Given the description of an element on the screen output the (x, y) to click on. 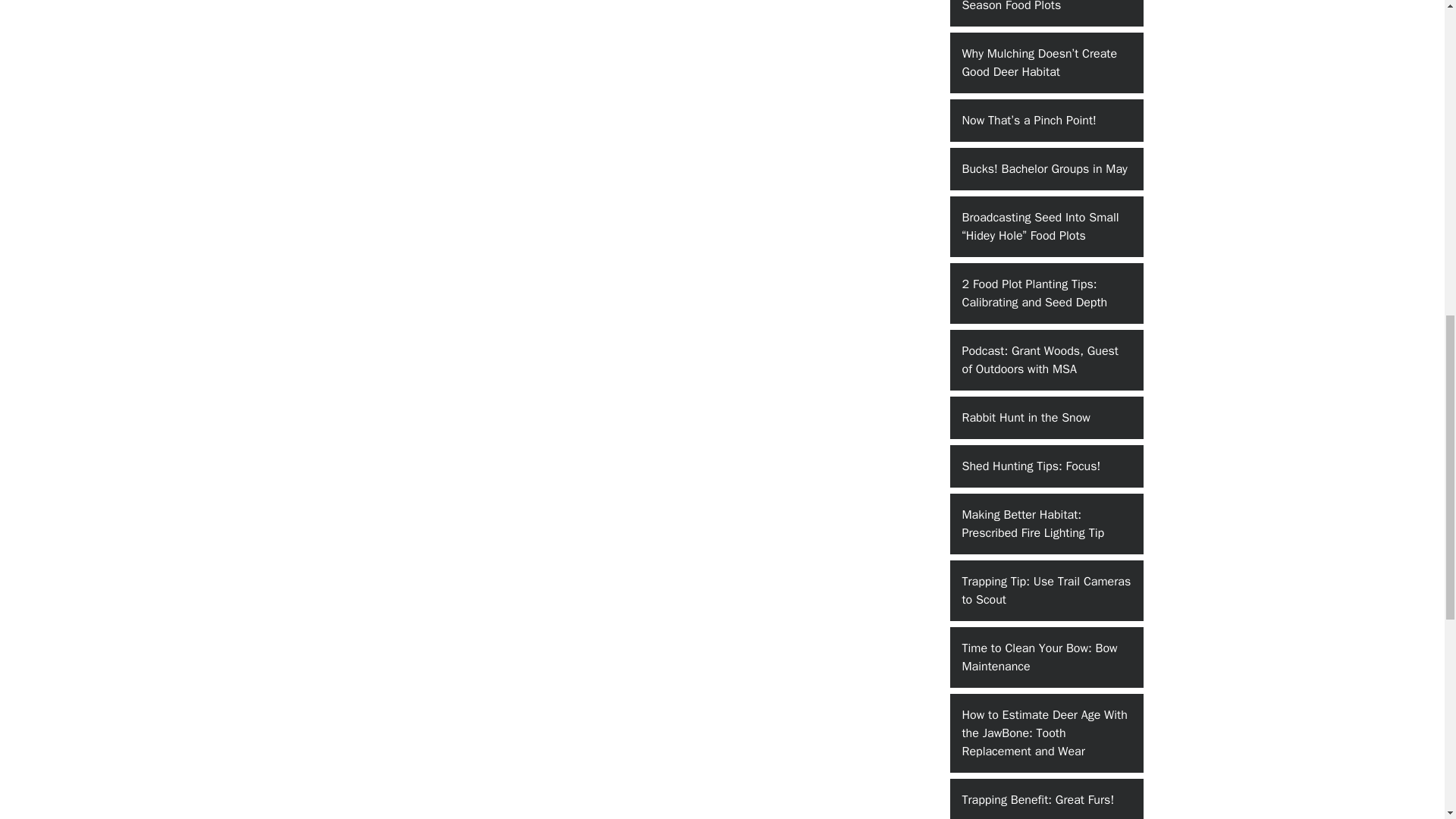
2 Food Plot Planting Tips: Calibrating and Seed Depth (1045, 292)
Shed Hunting Tips: Focus! (1045, 466)
Time to Clean Your Bow: Bow Maintenance (1045, 657)
Making Better Habitat: Prescribed Fire Lighting Tip (1045, 523)
Trapping Benefit: Great Furs! (1045, 798)
Trapping Tip: Use Trail Cameras to Scout (1045, 590)
Rabbit Hunt in the Snow (1045, 417)
Podcast: Grant Woods, Guest of Outdoors with MSA (1045, 360)
Bucks! Bachelor Groups in May (1045, 169)
